Given the description of an element on the screen output the (x, y) to click on. 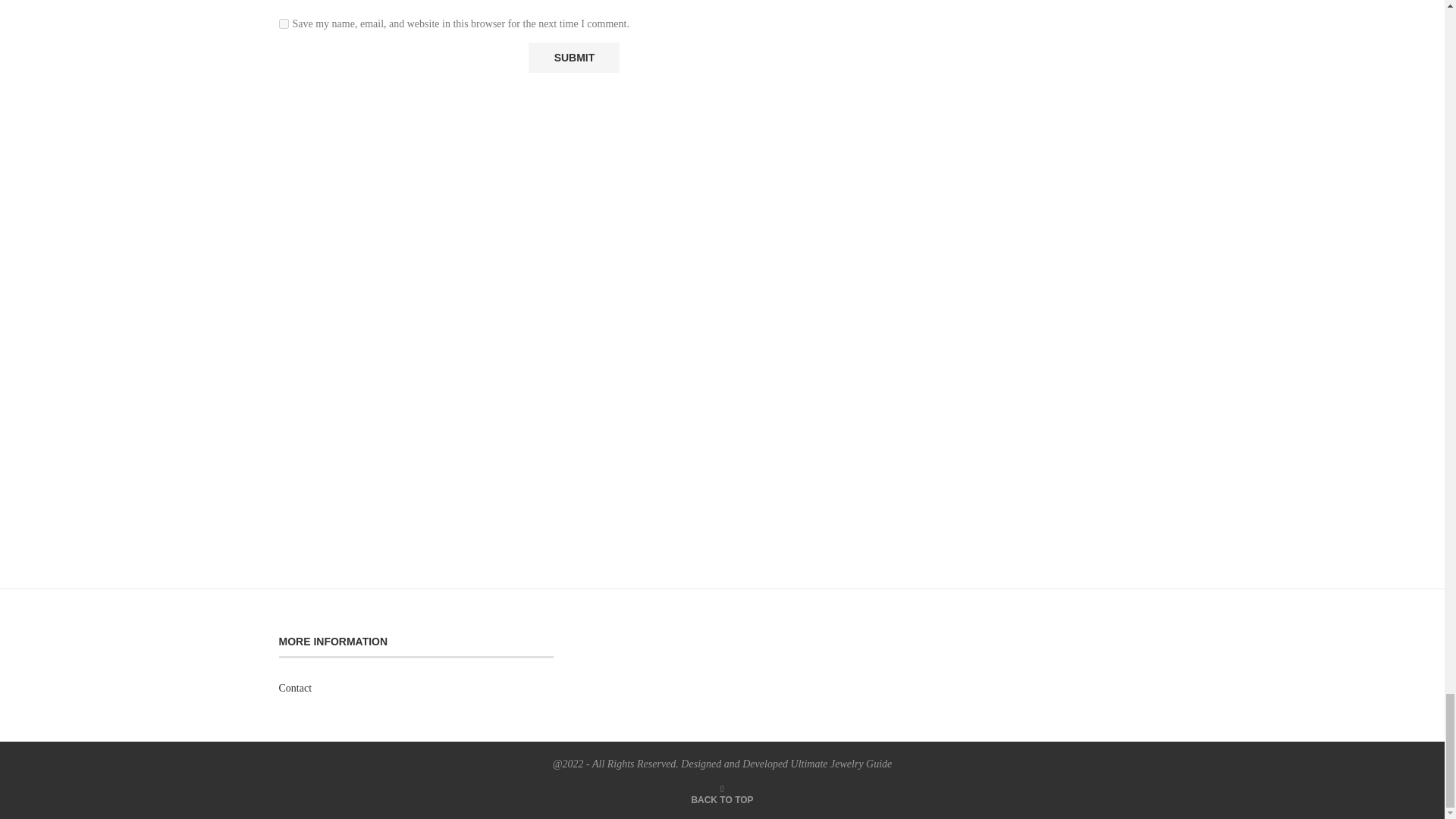
Submit (574, 57)
yes (283, 23)
